Given the description of an element on the screen output the (x, y) to click on. 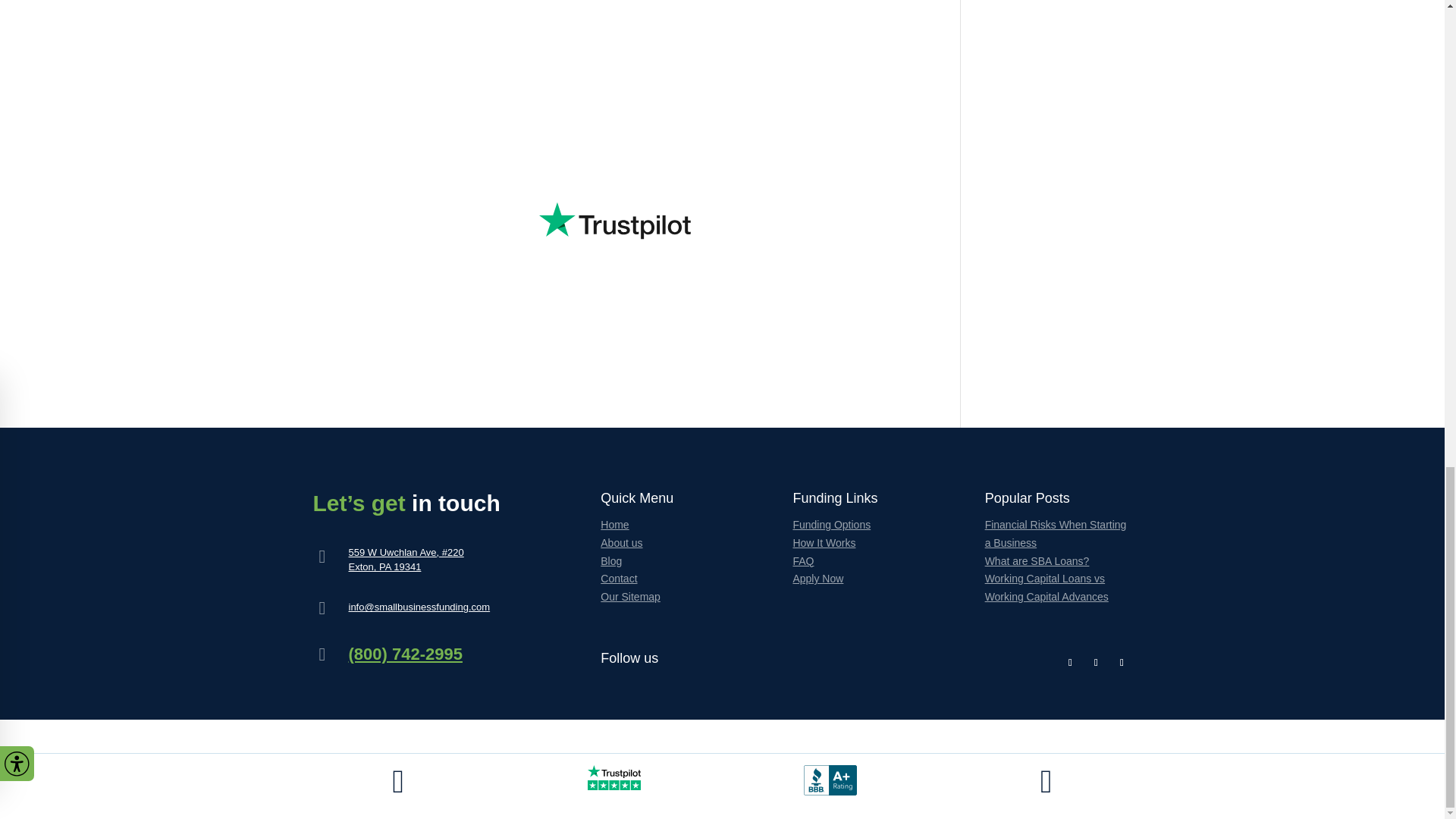
Follow on LinkedIn (1121, 662)
Follow on Facebook (1069, 662)
Exton, PA 19341 (385, 566)
Follow on Instagram (1095, 662)
